Given the description of an element on the screen output the (x, y) to click on. 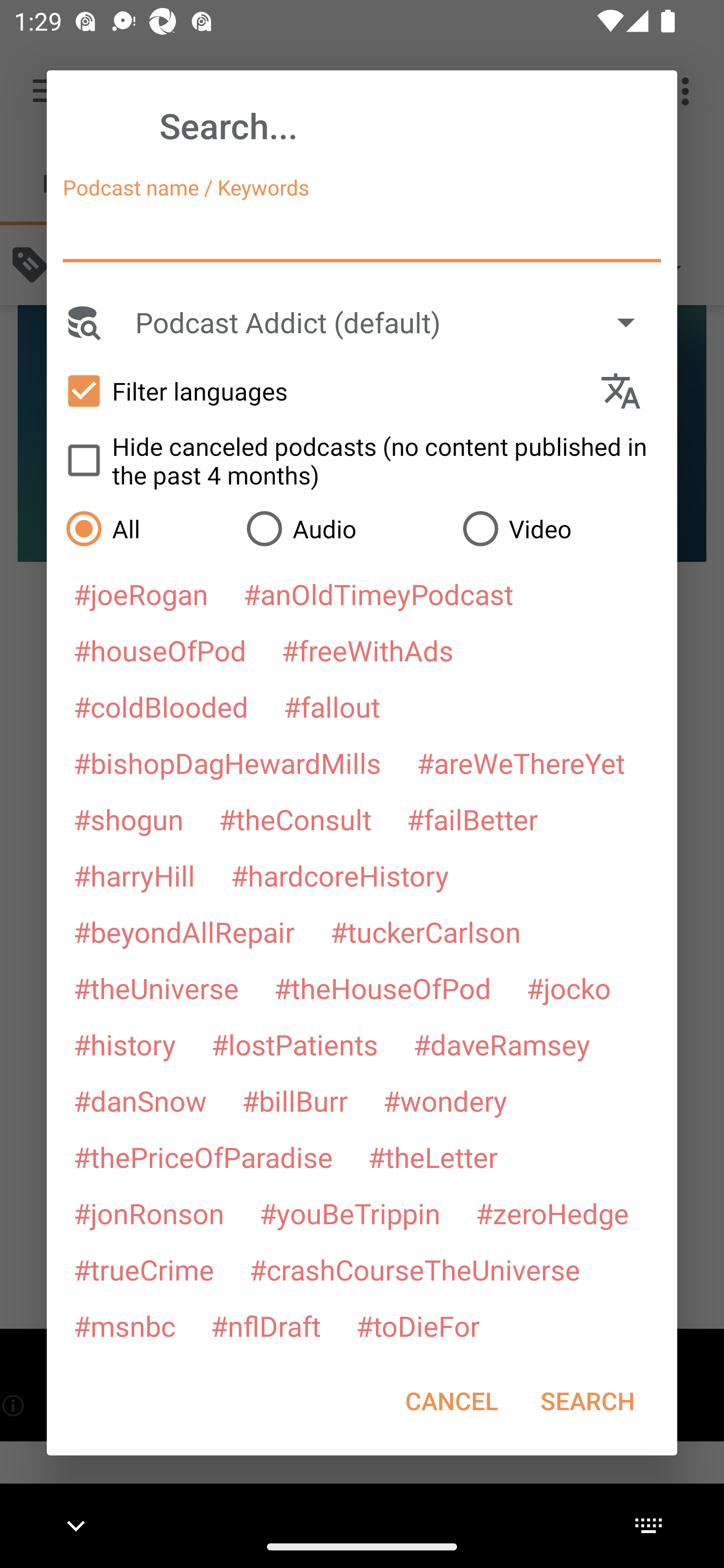
Podcast name / Keywords (361, 234)
Search Engine (82, 322)
Podcast Addict (default) (394, 322)
Languages selection (629, 390)
Filter languages (322, 390)
All (145, 528)
Audio (344, 528)
Video (560, 528)
#joeRogan (140, 594)
#anOldTimeyPodcast (378, 594)
#houseOfPod (159, 650)
#freeWithAds (367, 650)
#coldBlooded (160, 705)
#fallout (331, 705)
#bishopDagHewardMills (227, 762)
#areWeThereYet (521, 762)
#shogun (128, 818)
#theConsult (294, 818)
#failBetter (471, 818)
#harryHill (134, 875)
#hardcoreHistory (339, 875)
#beyondAllRepair (184, 931)
#tuckerCarlson (425, 931)
#theUniverse (155, 987)
#theHouseOfPod (381, 987)
#jocko (568, 987)
#history (124, 1044)
#lostPatients (294, 1044)
#daveRamsey (501, 1044)
#danSnow (139, 1100)
#billBurr (294, 1100)
#wondery (444, 1100)
#thePriceOfParadise (203, 1157)
#theLetter (432, 1157)
#jonRonson (148, 1213)
#youBeTrippin (349, 1213)
#zeroHedge (552, 1213)
#trueCrime (143, 1268)
#crashCourseTheUniverse (414, 1268)
#msnbc (124, 1325)
#nflDraft (265, 1325)
#toDieFor (417, 1325)
CANCEL (451, 1400)
SEARCH (587, 1400)
